Given the description of an element on the screen output the (x, y) to click on. 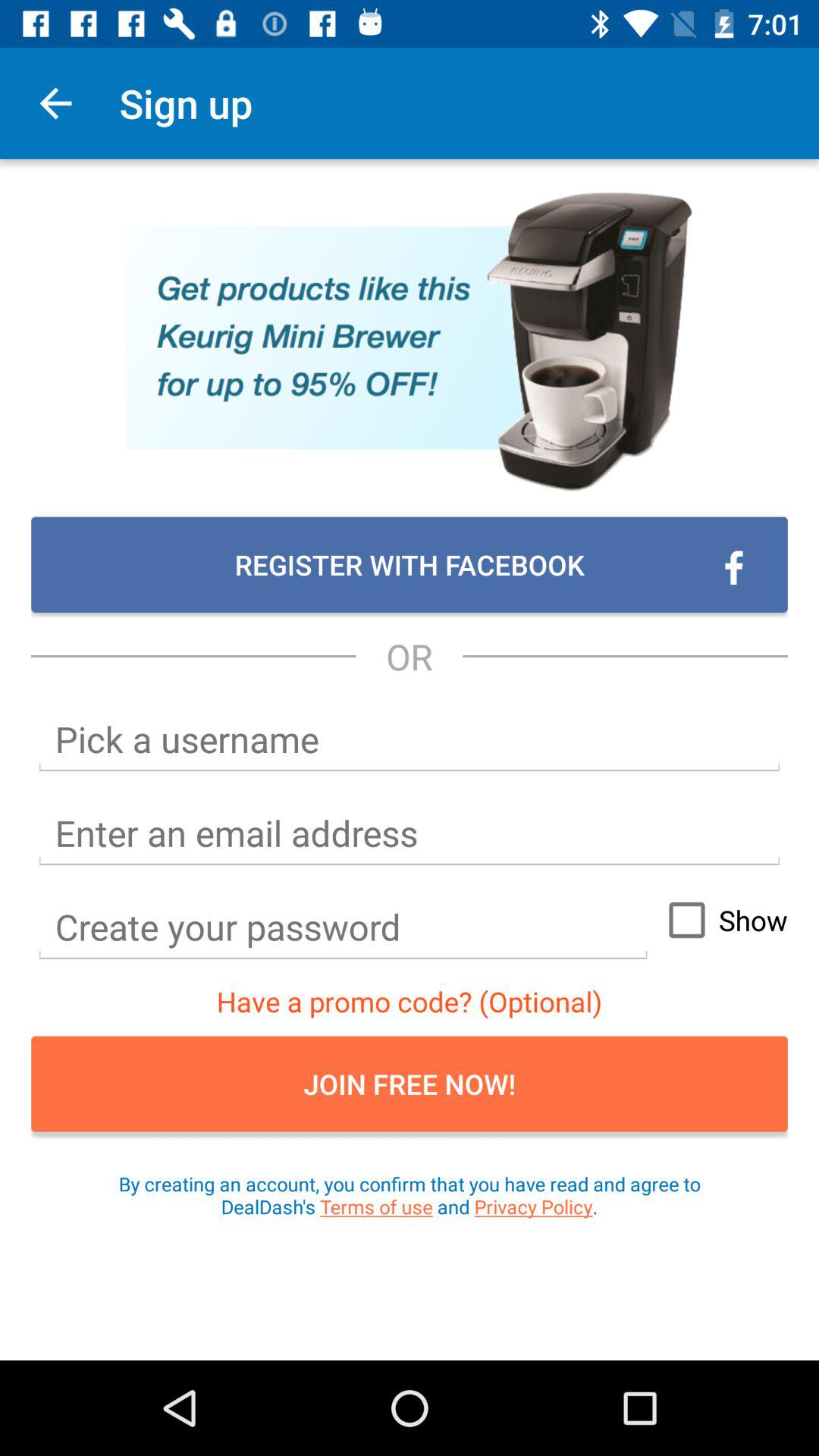
enter new password (343, 927)
